Given the description of an element on the screen output the (x, y) to click on. 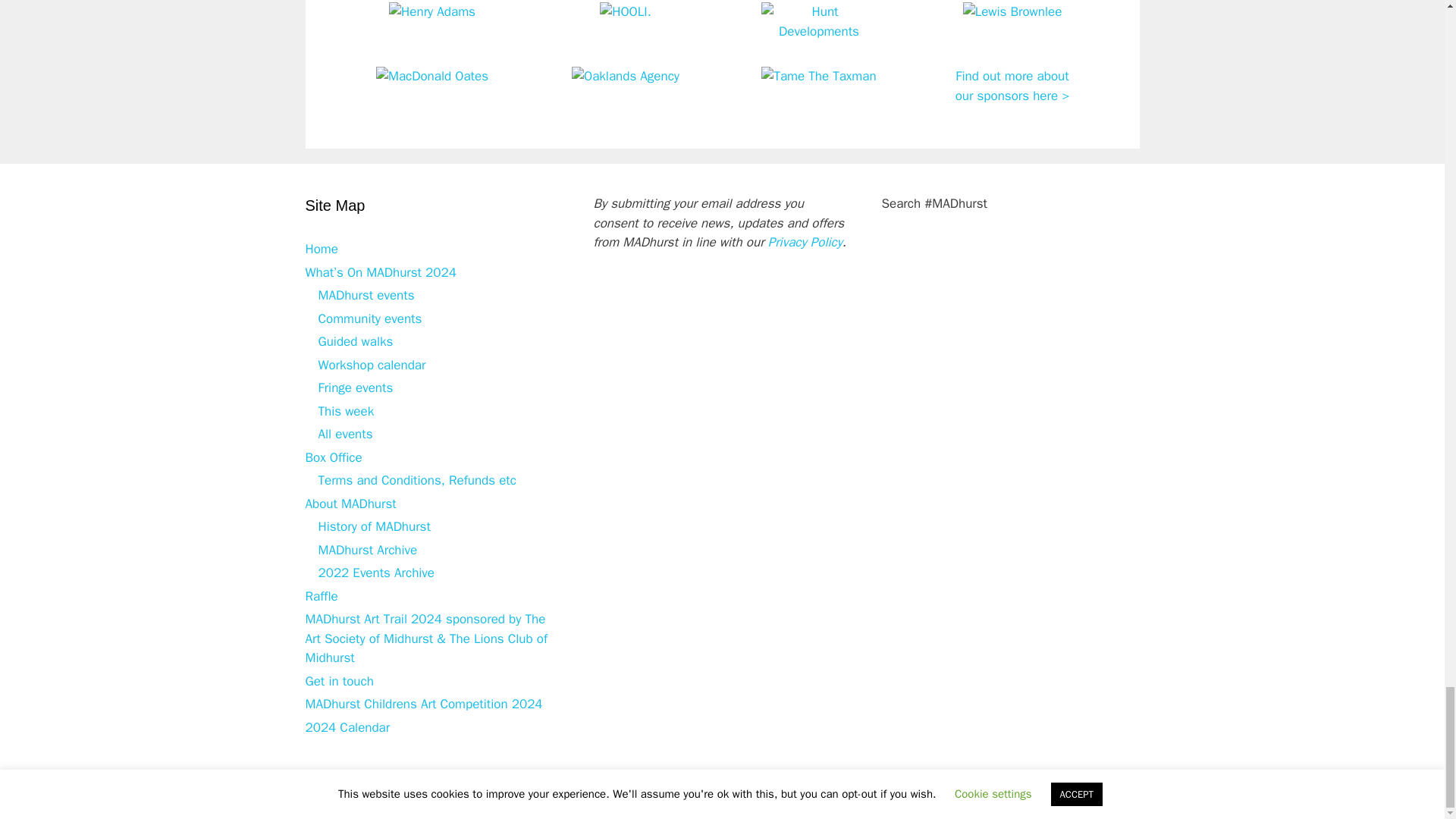
Tame The Taxman (818, 75)
MacDonald Oates (431, 75)
Oaklands Agency (625, 75)
Hunt Developments (819, 31)
HOOLI. (624, 11)
Henry Adams (432, 11)
Lewis Brownlee (1012, 11)
